Given the description of an element on the screen output the (x, y) to click on. 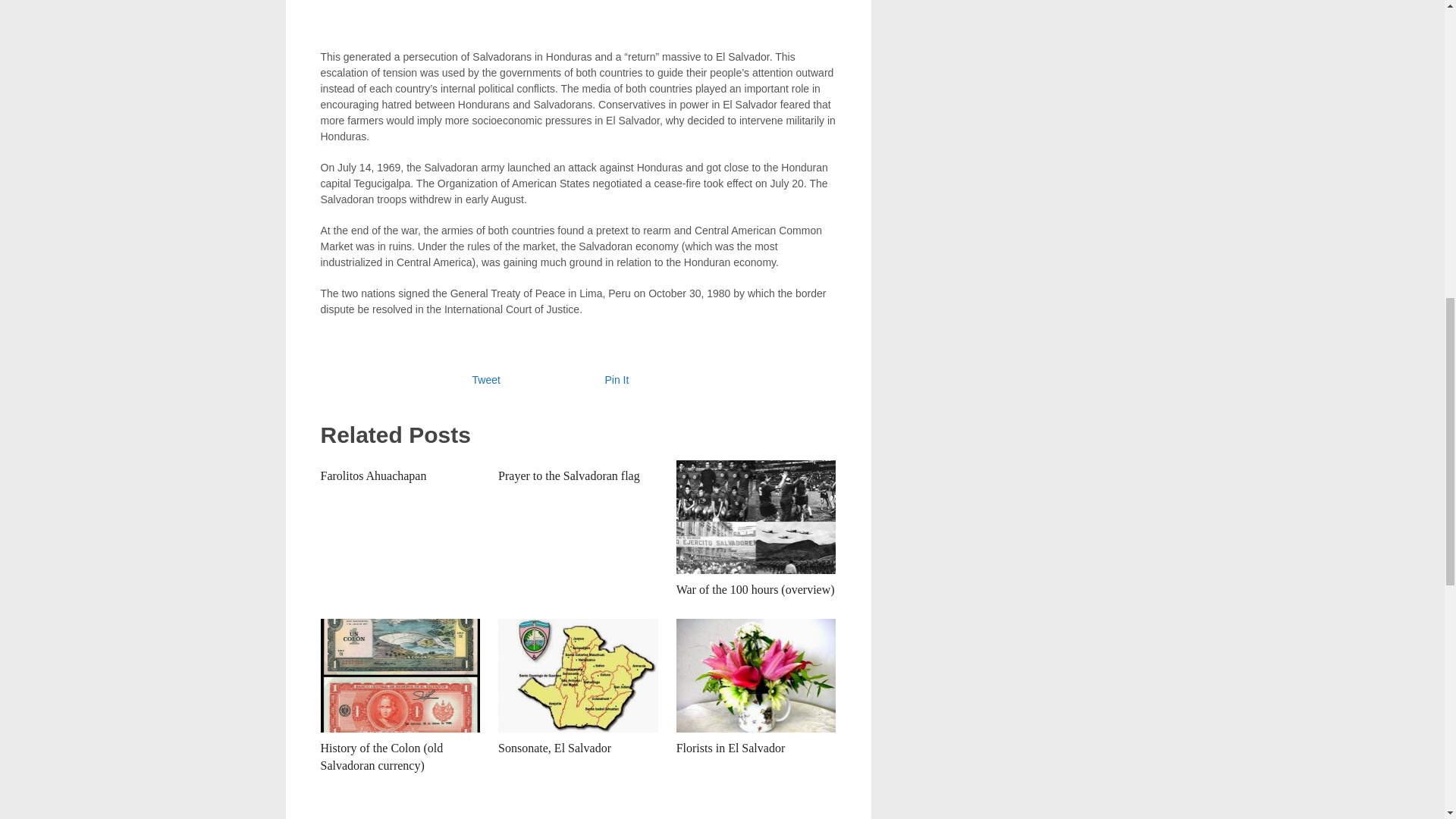
Prayer to the Salvadoran flag (568, 475)
Farolitos Ahuachapan (373, 475)
Tweet (485, 379)
Sonsonate, El Salvador (554, 748)
Florists in El Salvador (731, 748)
Farolitos Ahuachapan (373, 475)
Prayer to the Salvadoran flag (568, 475)
Pin It (616, 379)
Advertisement (577, 17)
